Given the description of an element on the screen output the (x, y) to click on. 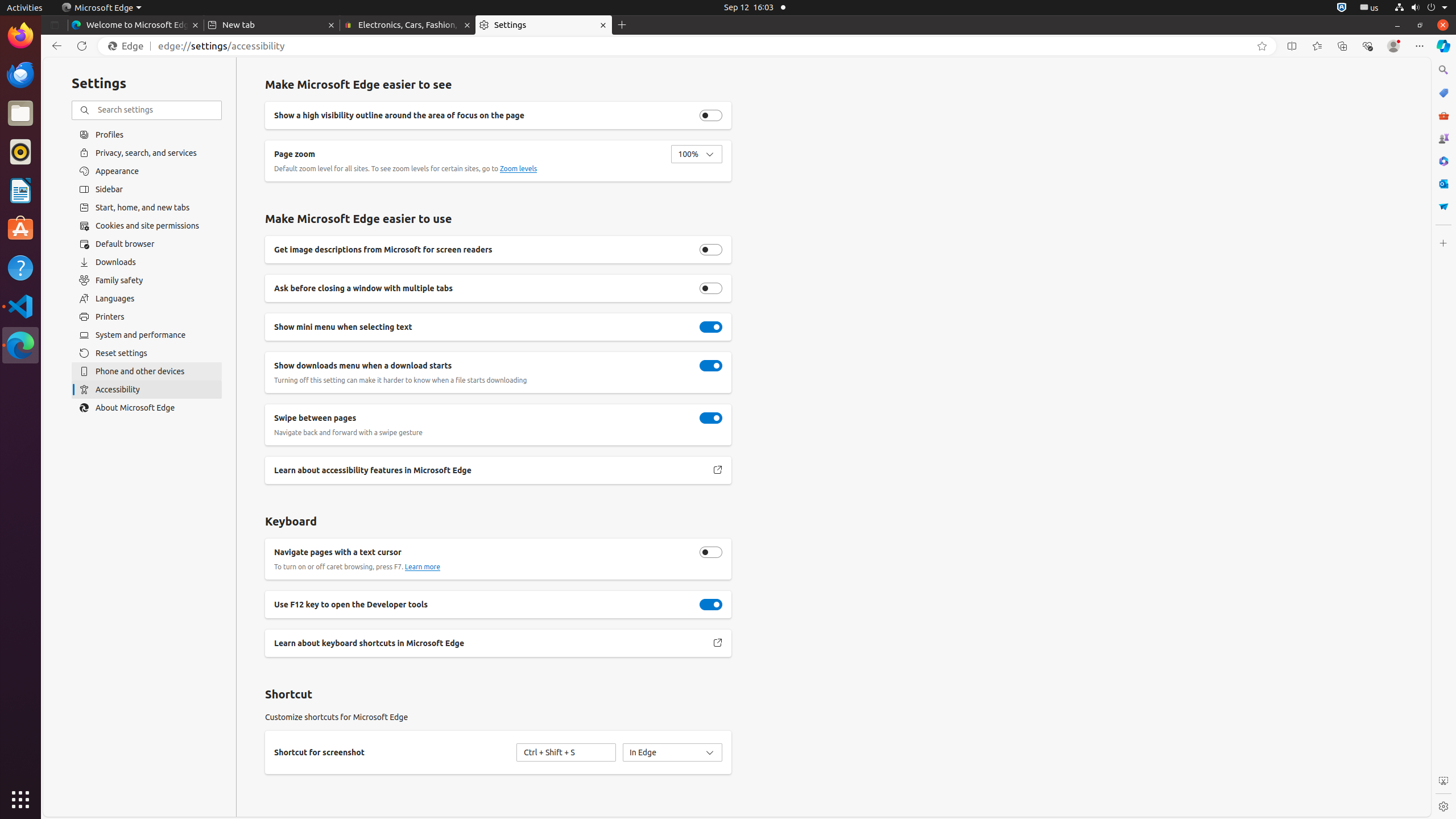
Outlook Element type: push-button (1443, 183)
Show Applications Element type: toggle-button (20, 799)
Family safety Element type: tree-item (146, 280)
:1.21/StatusNotifierItem Element type: menu (1369, 7)
Tools Element type: push-button (1443, 115)
